Given the description of an element on the screen output the (x, y) to click on. 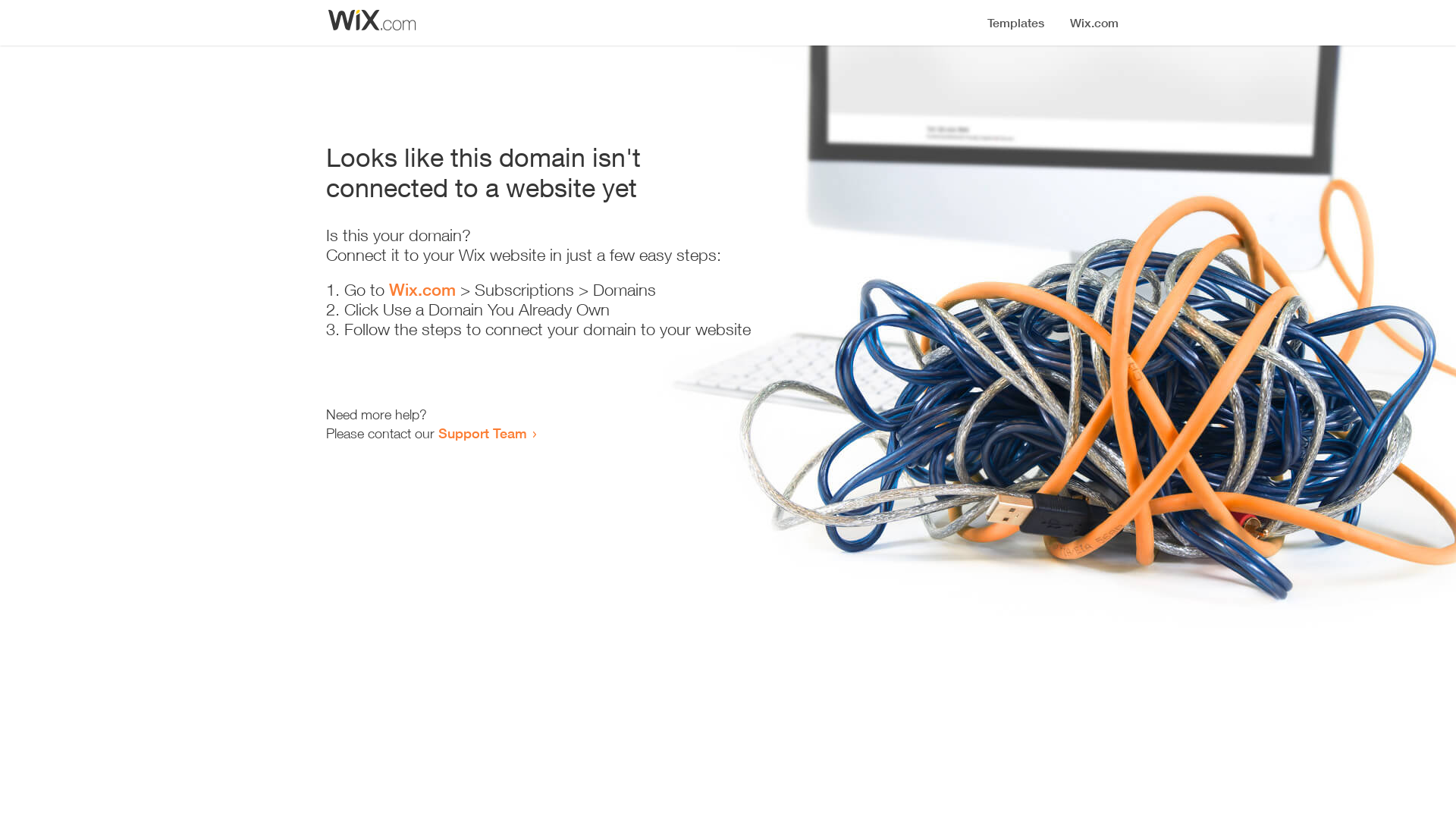
Wix.com Element type: text (422, 289)
Support Team Element type: text (482, 432)
